Given the description of an element on the screen output the (x, y) to click on. 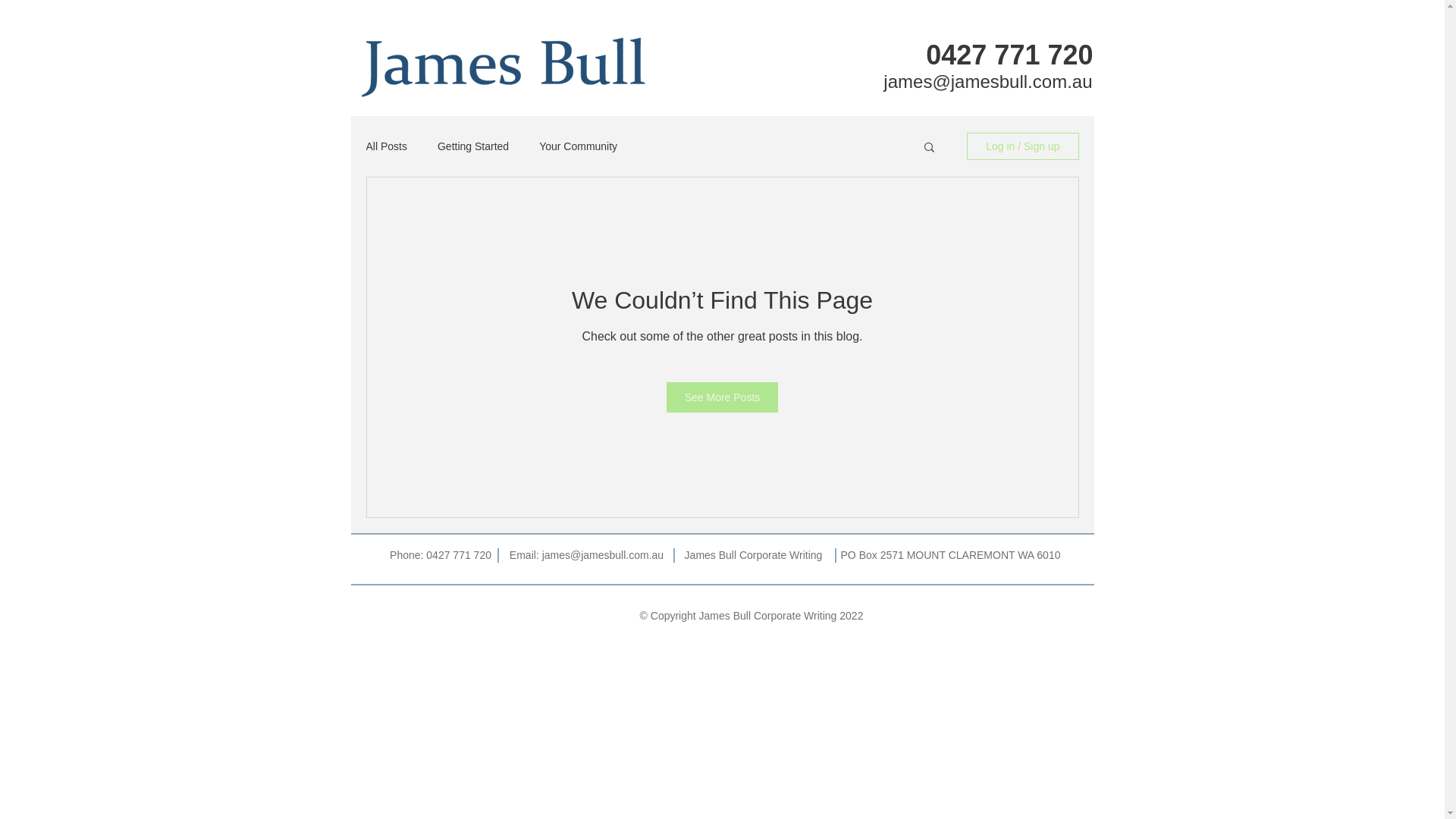
Log in / Sign up Element type: text (1022, 146)
All Posts Element type: text (385, 146)
Your Community Element type: text (578, 146)
james@jamesbull.com.au Element type: text (987, 81)
Email: james@jamesbull.com.au Element type: text (586, 555)
Getting Started Element type: text (472, 146)
See More Posts Element type: text (722, 397)
